Given the description of an element on the screen output the (x, y) to click on. 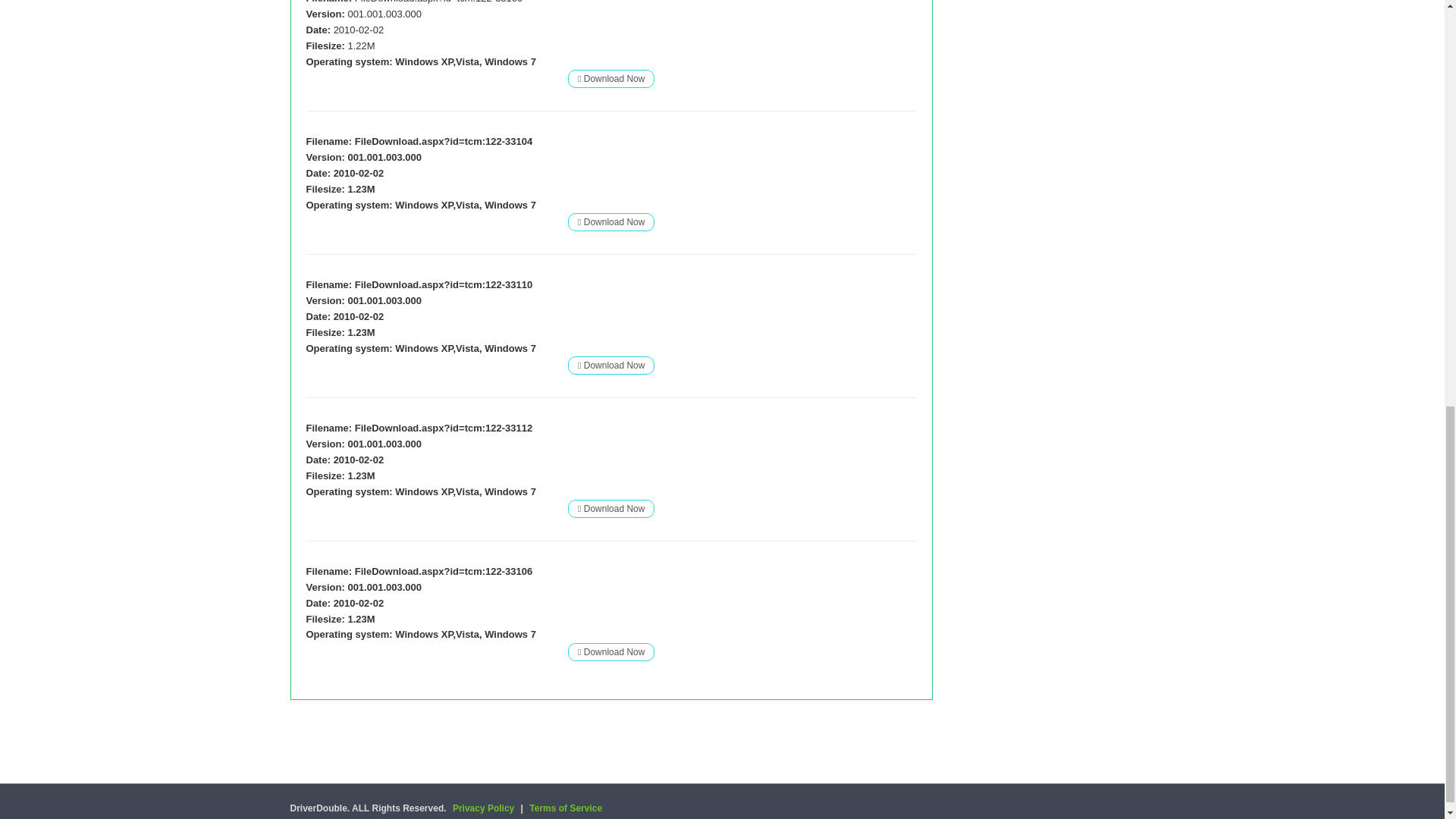
Download Now (610, 651)
Download Now (610, 221)
Download Now (610, 365)
Download Now (610, 508)
Privacy Policy (482, 808)
Download Now (610, 78)
Download Now (610, 508)
Download Now (610, 365)
Download Now (610, 78)
Download Now (610, 221)
